Given the description of an element on the screen output the (x, y) to click on. 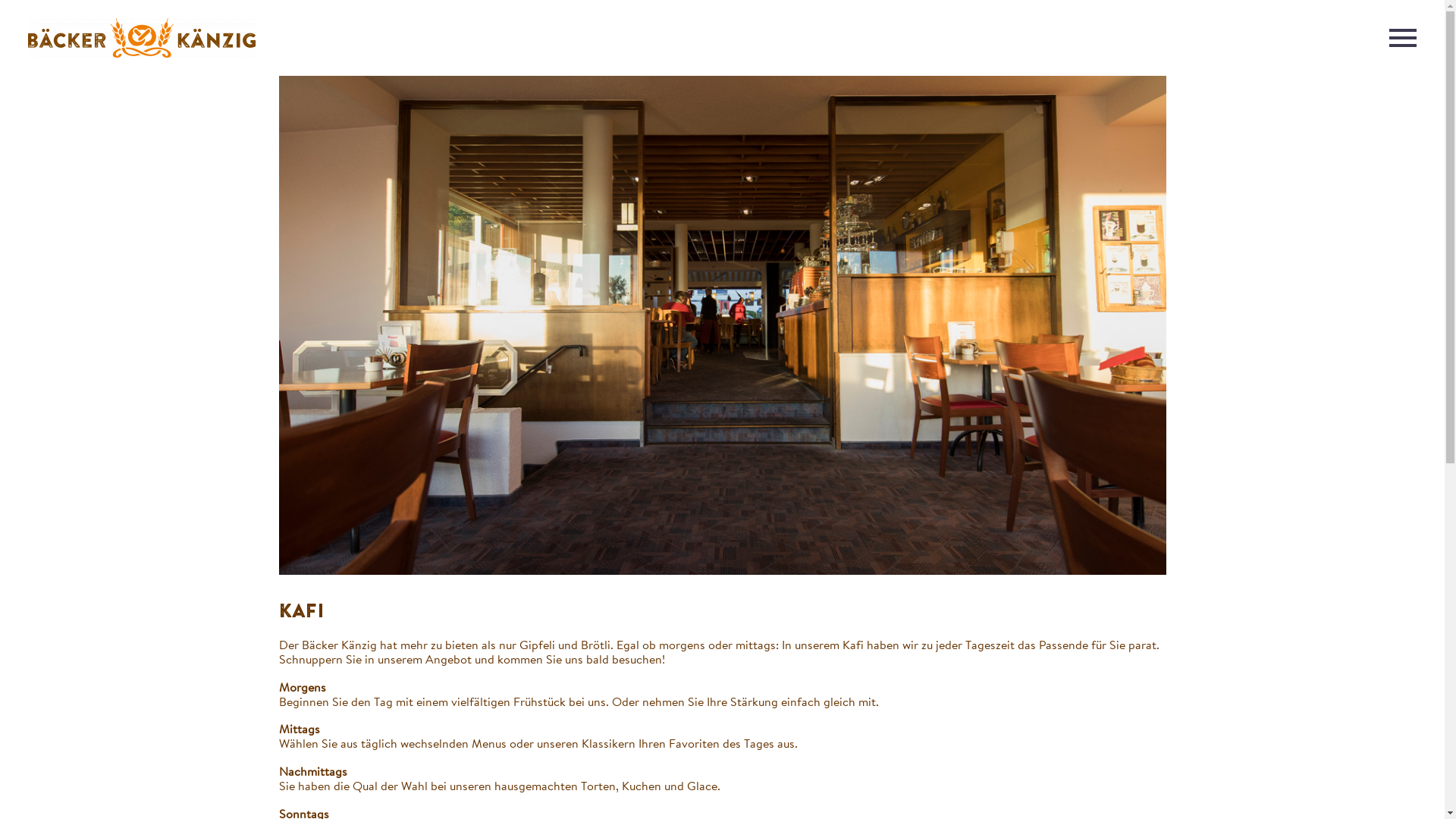
Primary Menu Element type: text (1402, 37)
